Given the description of an element on the screen output the (x, y) to click on. 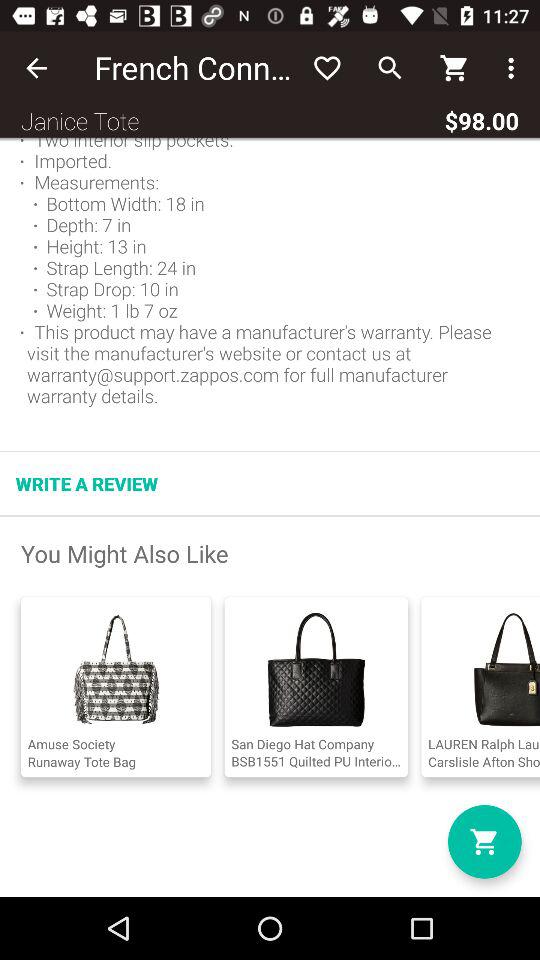
launch the made of polyurethane item (270, 277)
